Given the description of an element on the screen output the (x, y) to click on. 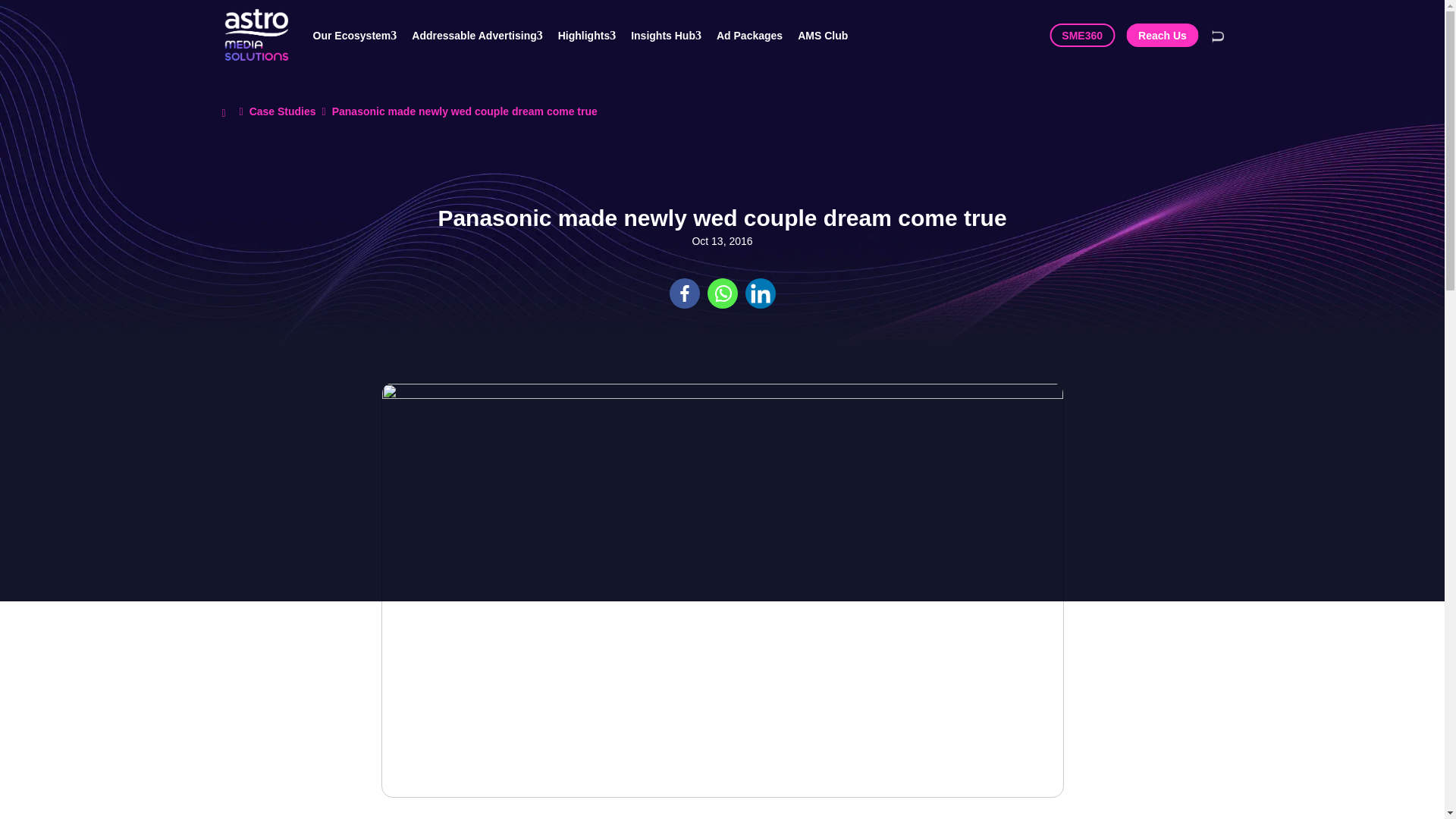
Addressable Advertising (484, 35)
AMS Club (830, 35)
Our Ecosystem (362, 35)
Whatsapp (721, 293)
Astro Media Solutions (255, 34)
Highlights (593, 35)
Ad Packages (756, 35)
Linkedin (759, 293)
Facebook (683, 293)
Insights Hub (673, 35)
